Given the description of an element on the screen output the (x, y) to click on. 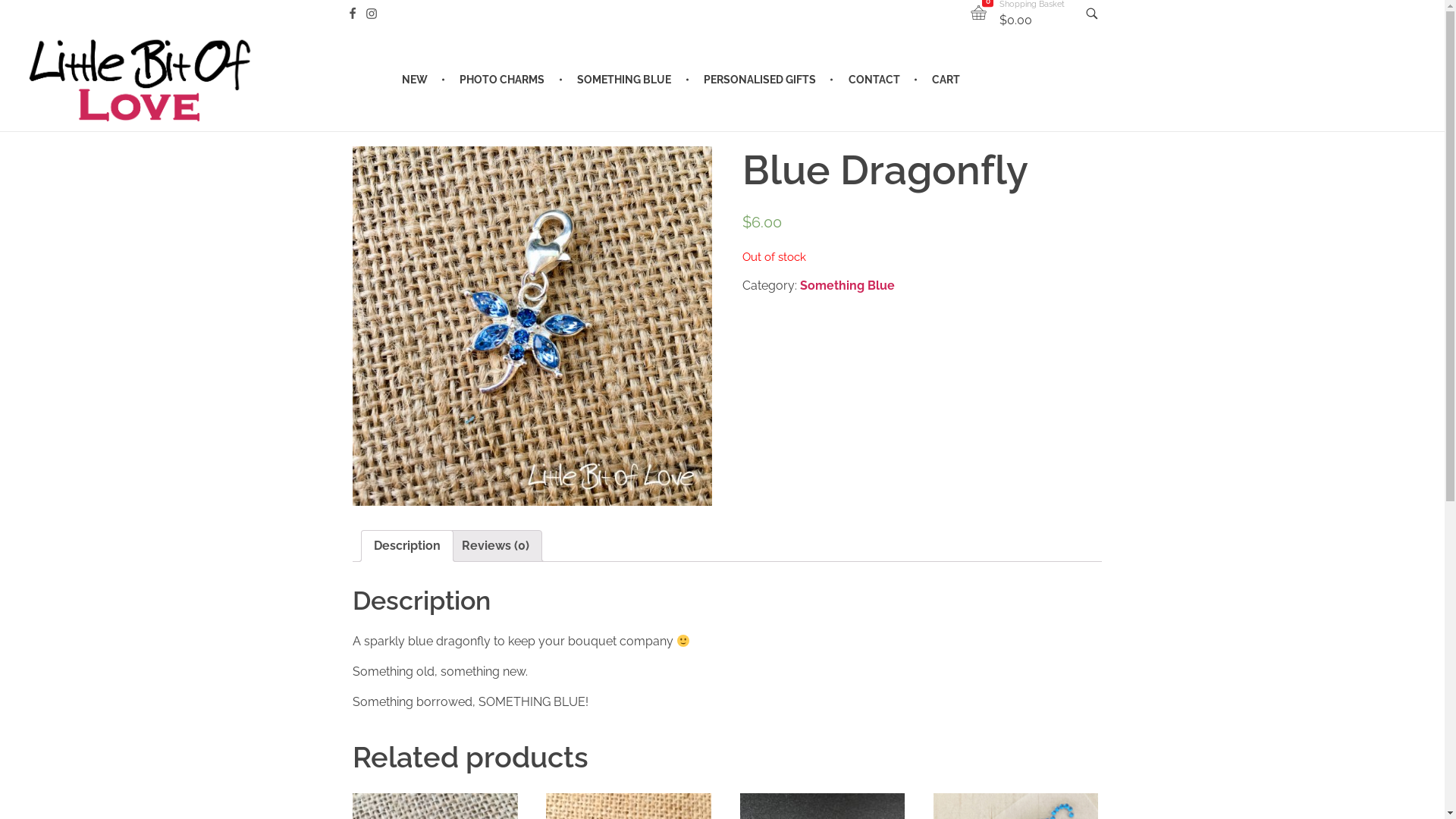
Reviews (0) Element type: text (495, 545)
Something Blue Element type: text (847, 285)
NEW Element type: text (423, 79)
CART Element type: text (939, 79)
PERSONALISED GIFTS Element type: text (761, 79)
PHOTO CHARMS Element type: text (504, 79)
Description Element type: text (406, 545)
CONTACT Element type: text (876, 79)
new-1 Element type: hover (532, 325)
SOMETHING BLUE Element type: text (626, 79)
